Given the description of an element on the screen output the (x, y) to click on. 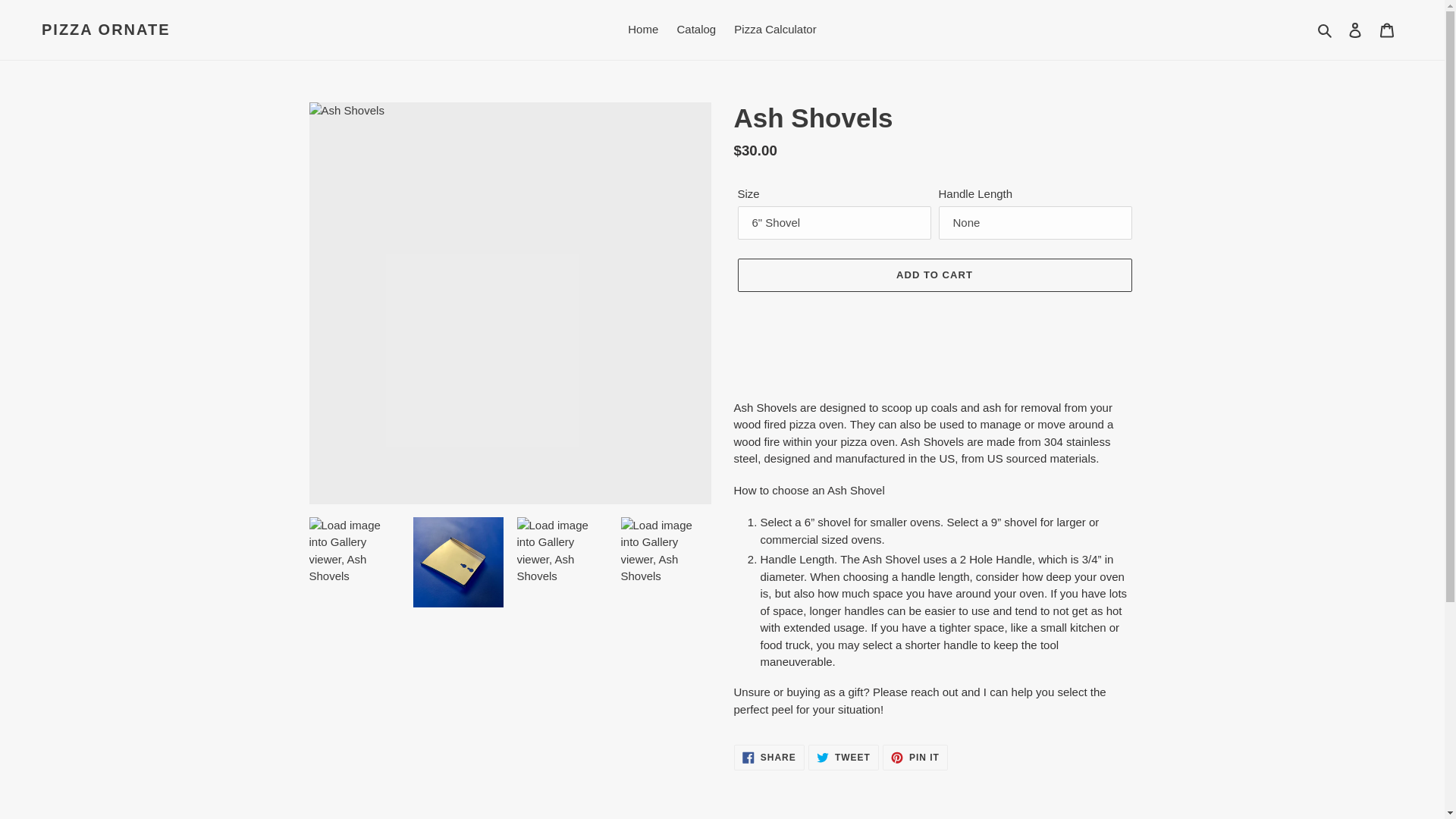
Cart (1387, 29)
Catalog (695, 29)
Home (642, 29)
Search (1326, 29)
Log in (914, 757)
ADD TO CART (1355, 29)
PIZZA ORNATE (933, 274)
Pizza Calculator (106, 29)
